Given the description of an element on the screen output the (x, y) to click on. 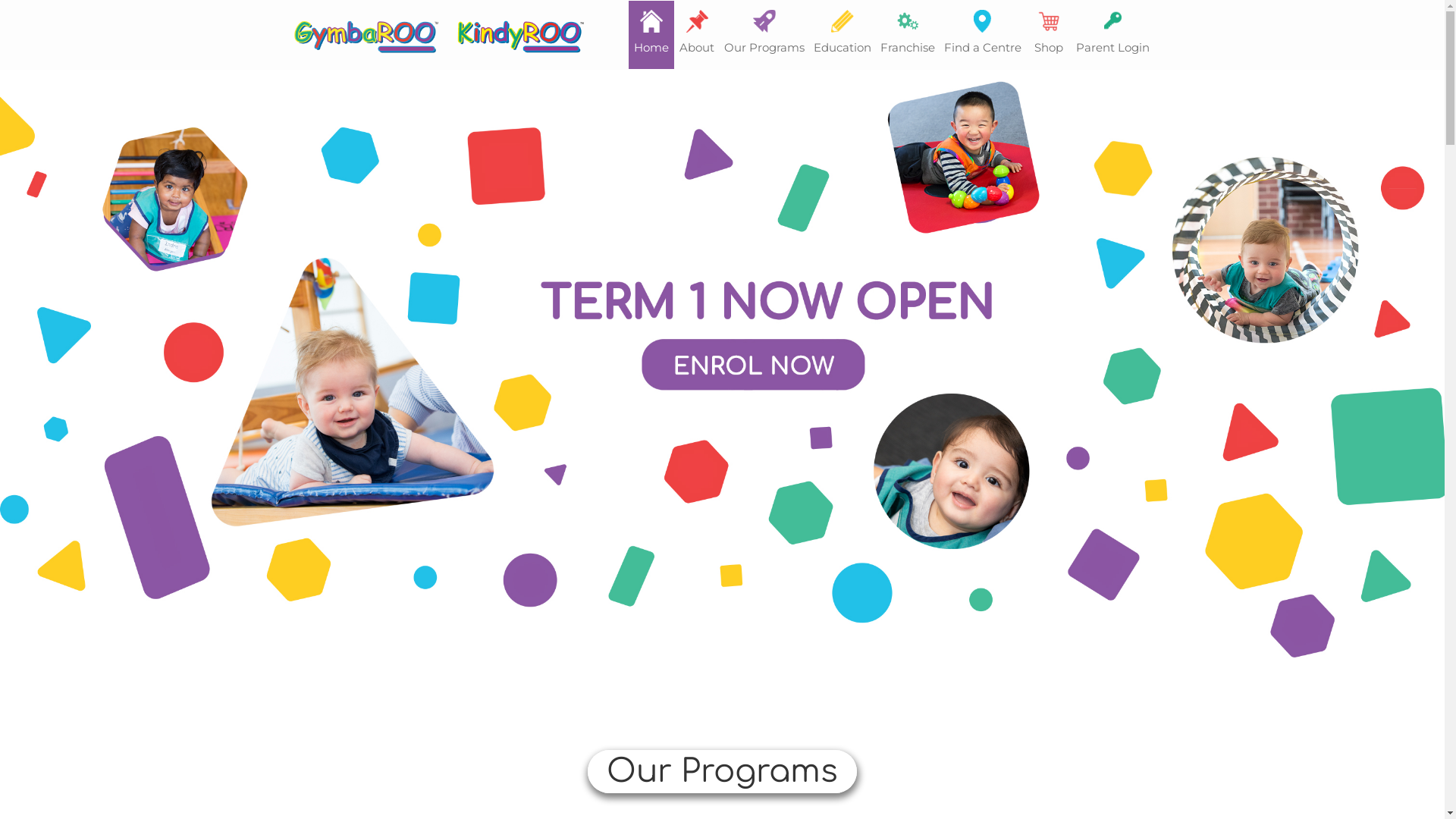
Education Element type: text (841, 34)
About Element type: text (695, 34)
Find a Centre Element type: text (981, 34)
Franchise Element type: text (906, 34)
Our Programs Element type: text (763, 34)
Home Element type: text (650, 34)
Shop Element type: text (1047, 34)
Skip to content Element type: text (0, 0)
Parent Login Element type: text (1111, 34)
